Given the description of an element on the screen output the (x, y) to click on. 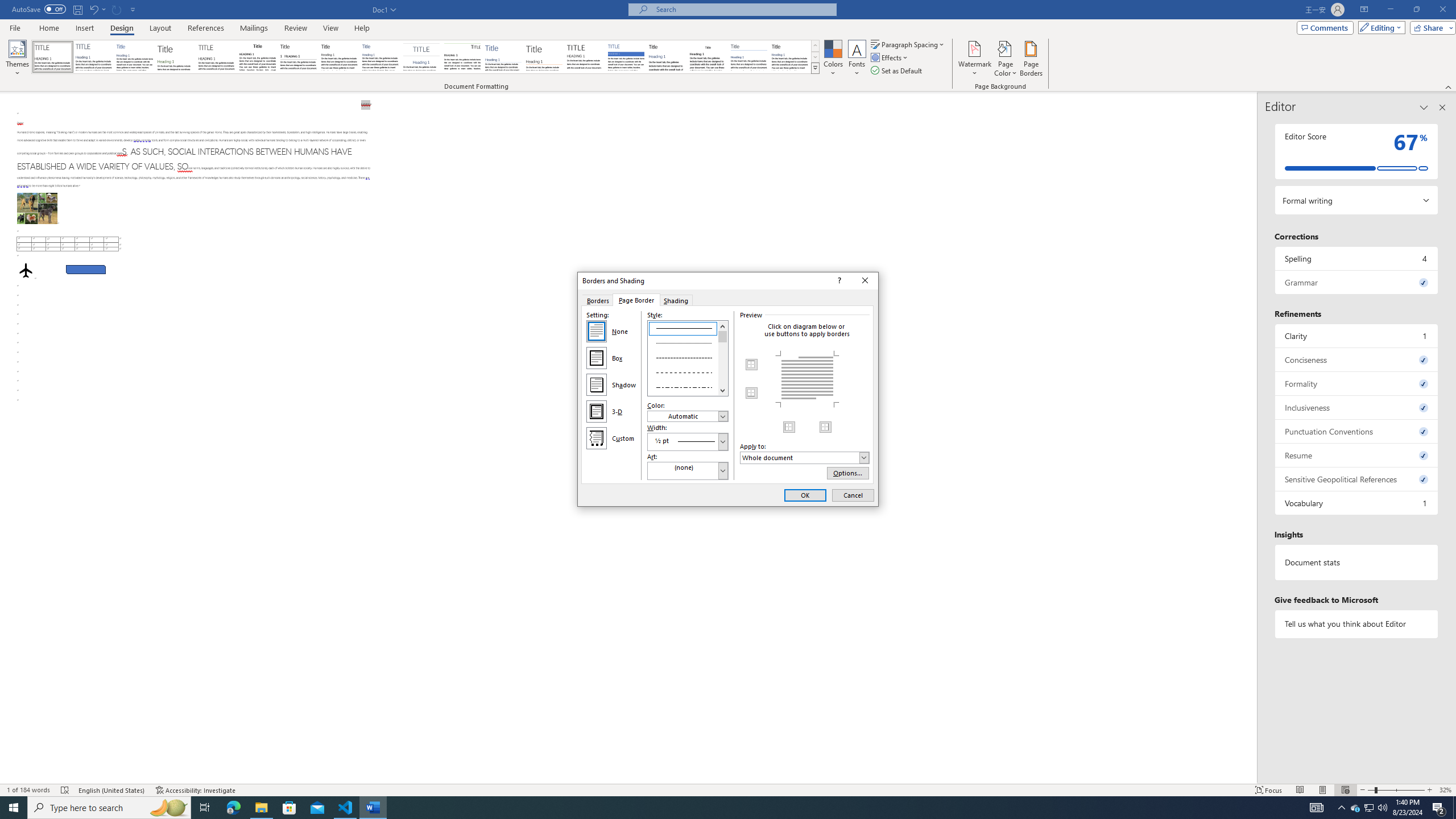
Effects (890, 56)
Single solid line (687, 327)
Microsoft search (742, 9)
Bottom Border (751, 392)
Rectangle: Diagonal Corners Snipped 2 (85, 269)
Black & White (Capitalized) (216, 56)
Preview (806, 379)
